Given the description of an element on the screen output the (x, y) to click on. 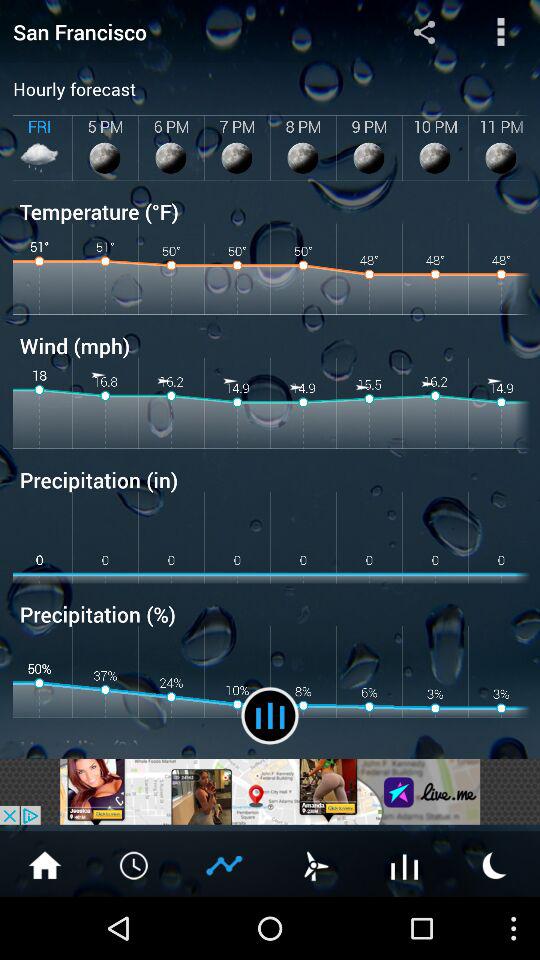
it pop up add (270, 791)
